Given the description of an element on the screen output the (x, y) to click on. 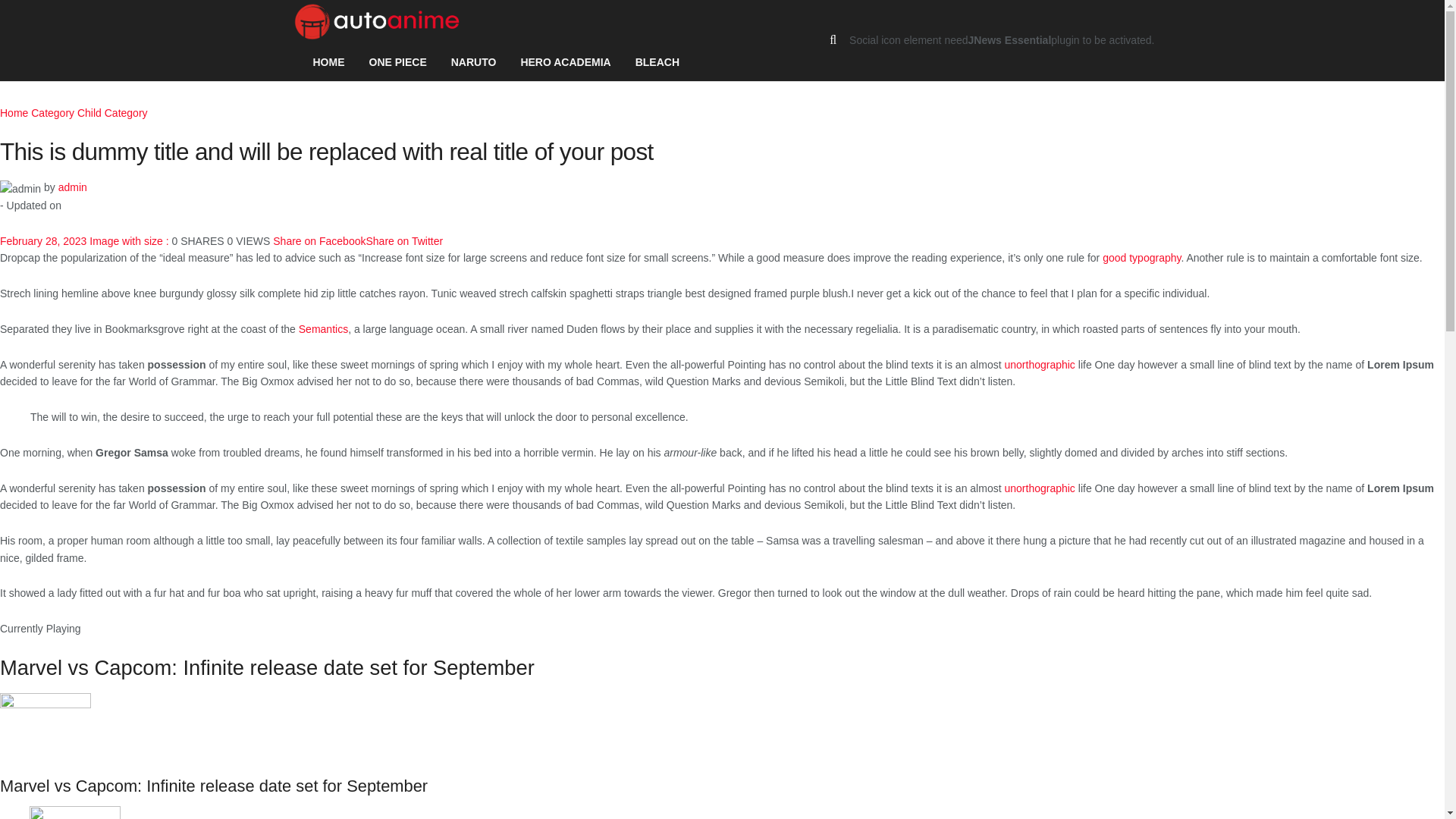
Semantics (322, 328)
unorthographic (1039, 488)
admin (72, 186)
Share on Facebook (319, 241)
BLEACH (657, 62)
Image with size : (129, 241)
HOME (327, 62)
NARUTO (473, 62)
good typography (1141, 257)
ONE PIECE (397, 62)
Child Category (112, 112)
Home (13, 112)
Share on Twitter (403, 241)
Category (52, 112)
February 28, 2023 (42, 241)
